Given the description of an element on the screen output the (x, y) to click on. 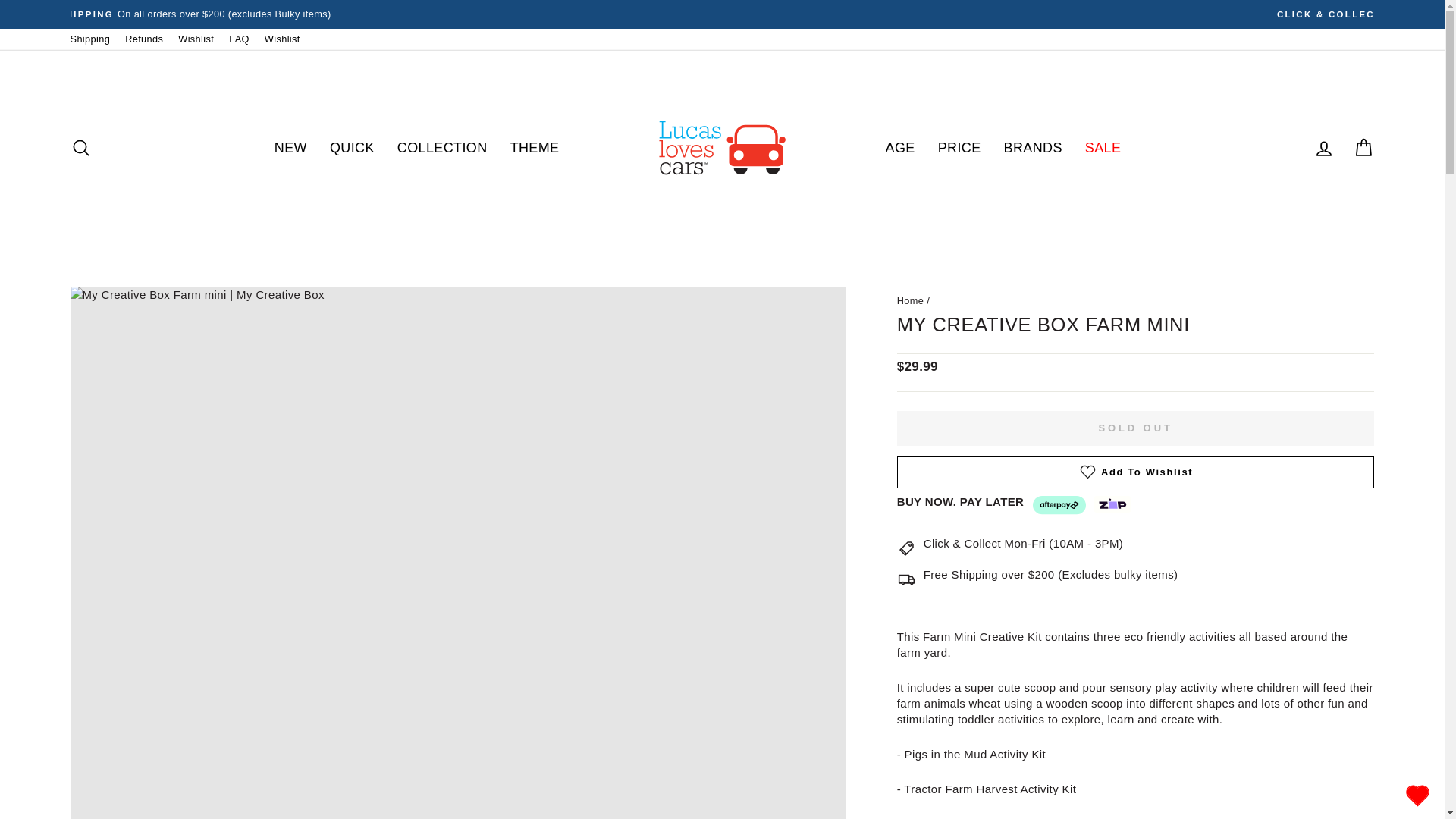
Back to the frontpage (910, 300)
Click and Collect (1023, 543)
